Given the description of an element on the screen output the (x, y) to click on. 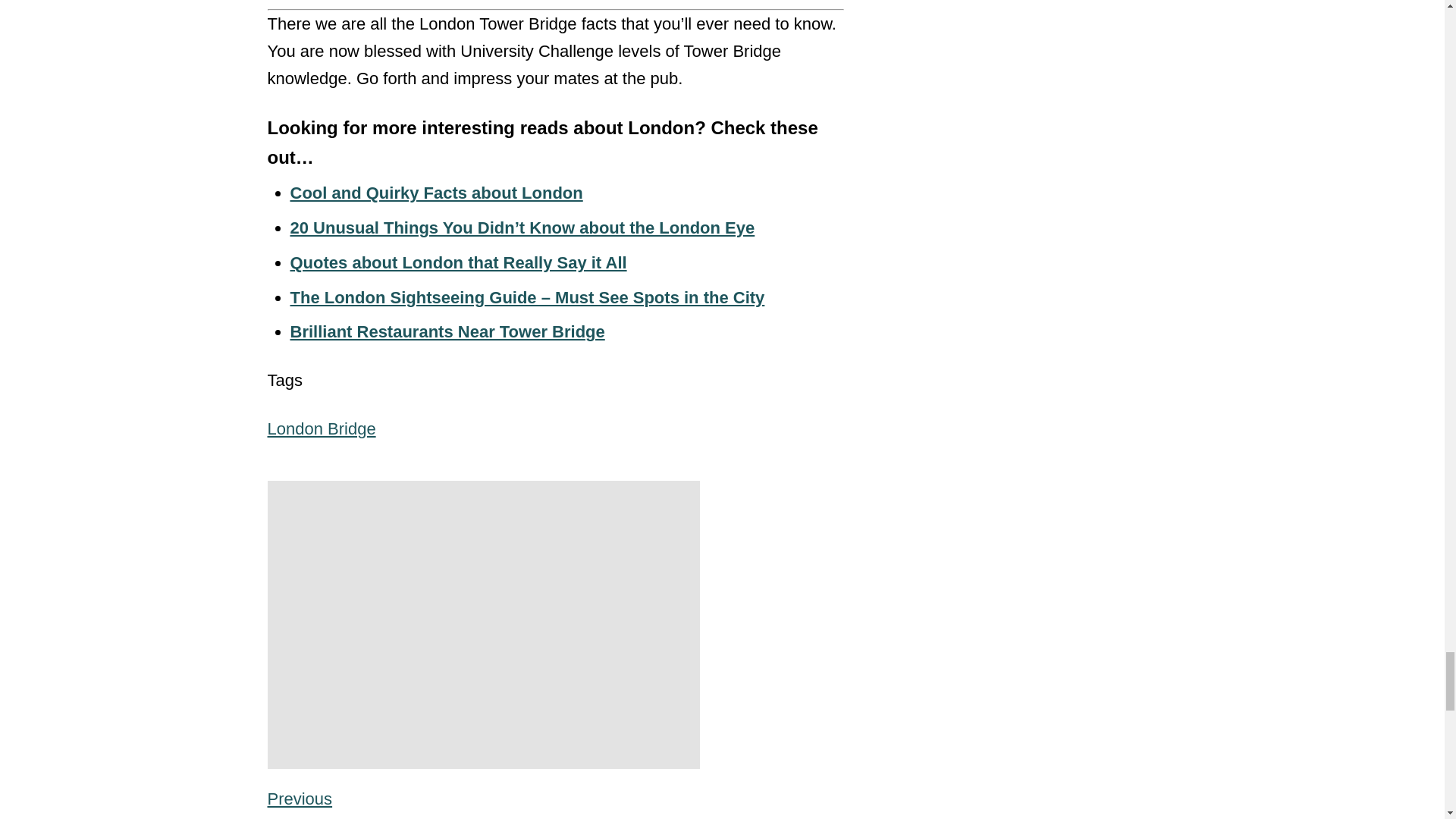
Brilliant Restaurants Near Tower Bridge (446, 331)
London Bridge (320, 428)
Cool and Quirky Facts about London (435, 192)
Quotes about London that Really Say it All (457, 262)
